Given the description of an element on the screen output the (x, y) to click on. 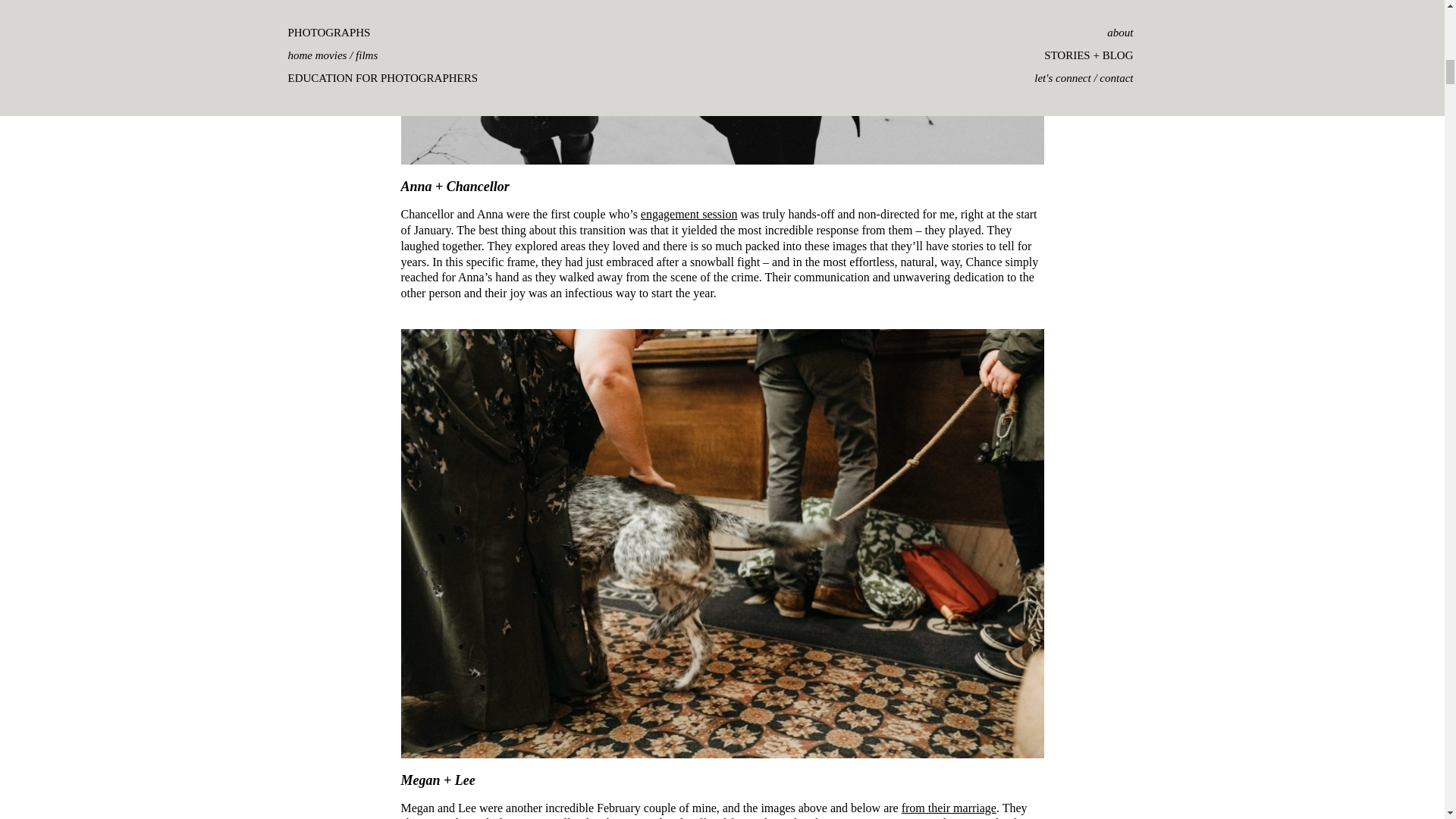
from their marriage (948, 807)
engagement session (689, 214)
